Given the description of an element on the screen output the (x, y) to click on. 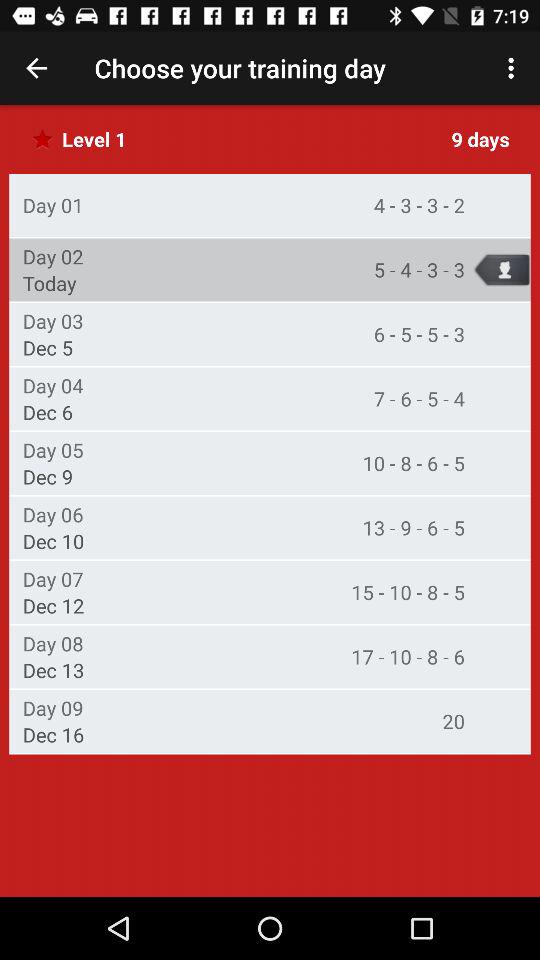
choose icon to the left of the 5 4 3 icon (49, 283)
